Given the description of an element on the screen output the (x, y) to click on. 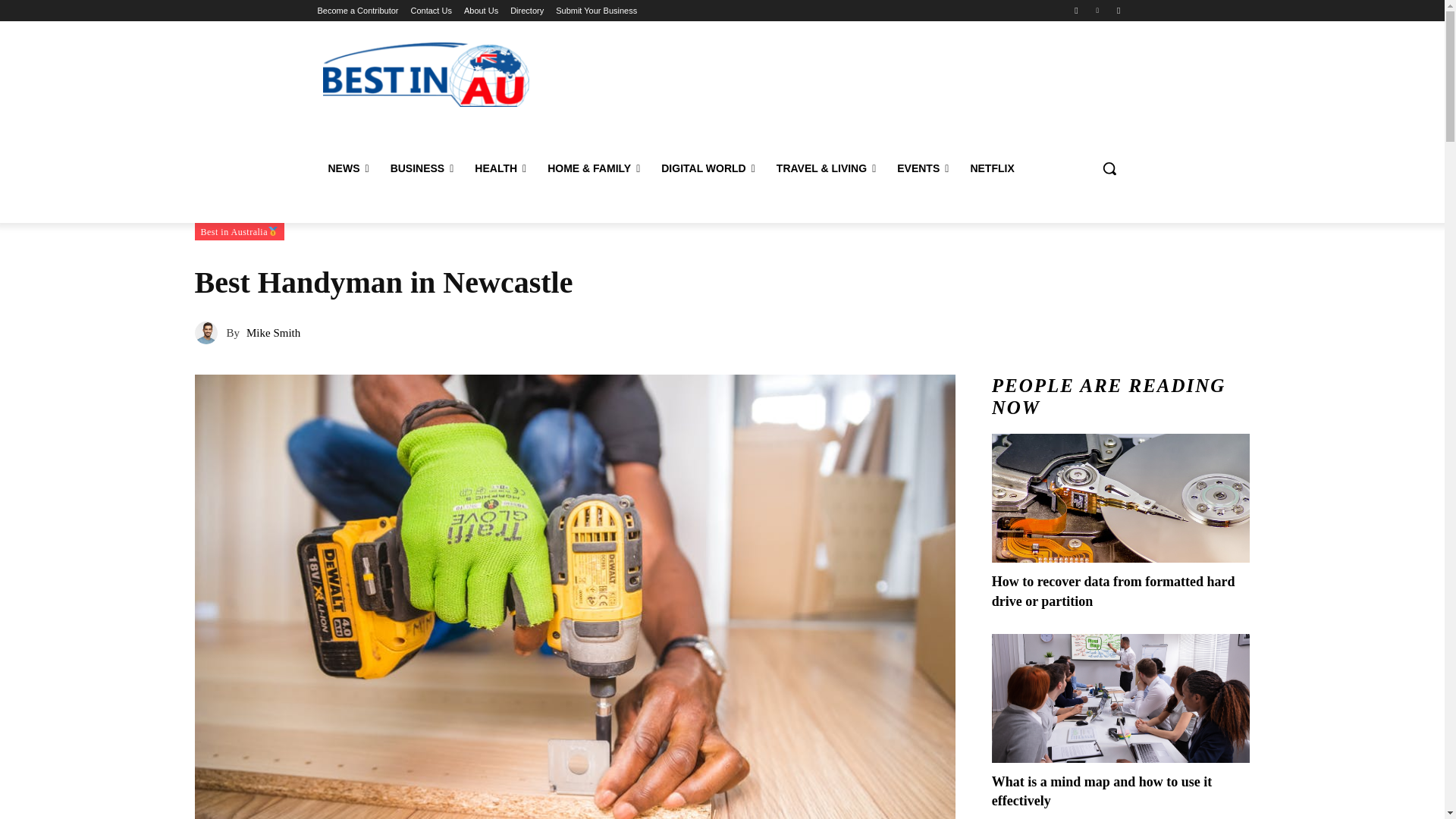
Facebook (1075, 9)
Best in Australia - The Most Researched Information (426, 74)
Mike Smith (209, 332)
Twitter (1117, 9)
Best in Australia - The Most Researched Information (425, 74)
Linkedin (1097, 9)
